Given the description of an element on the screen output the (x, y) to click on. 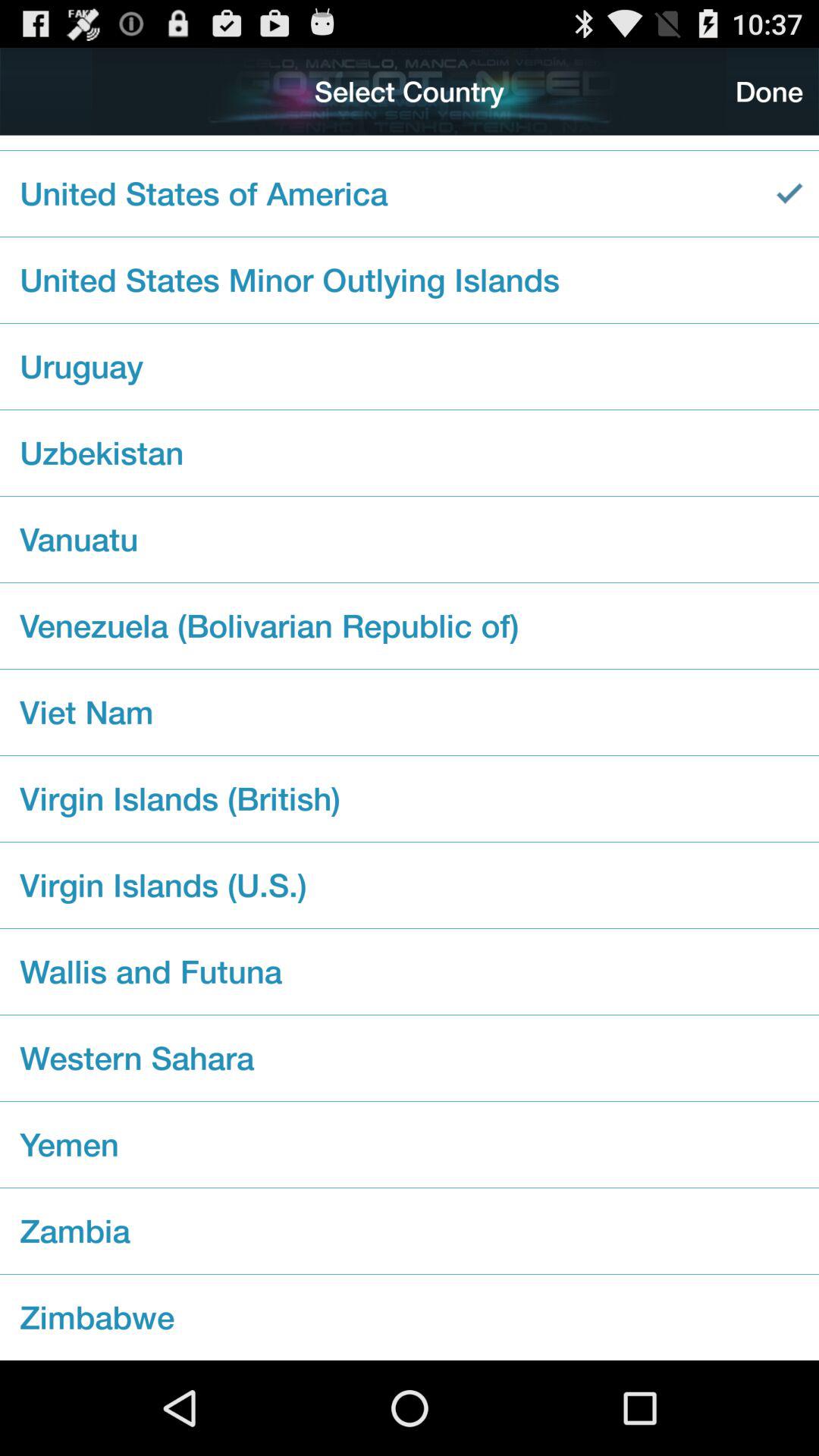
swipe to zimbabwe (409, 1317)
